Given the description of an element on the screen output the (x, y) to click on. 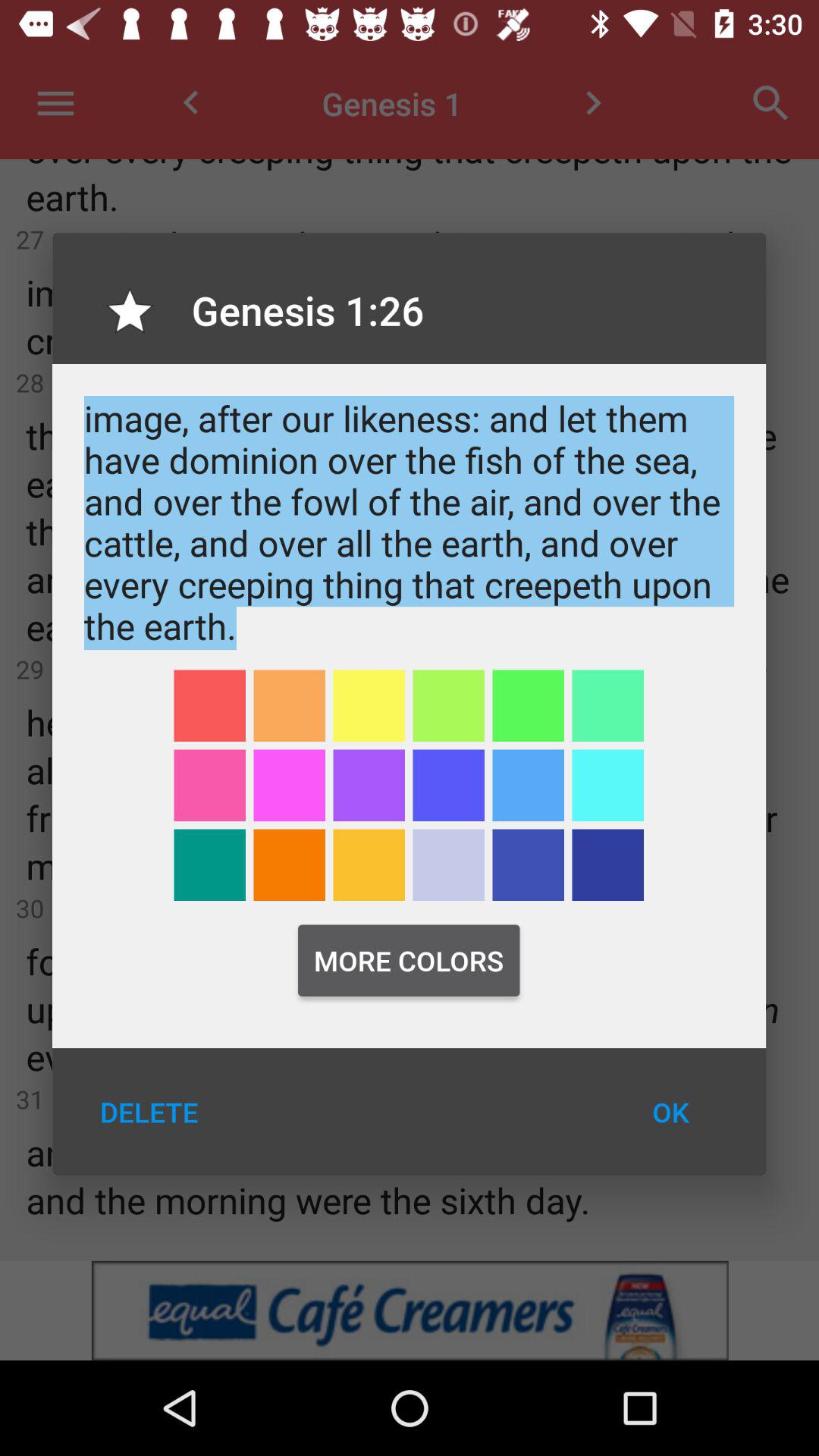
select colour (368, 864)
